Given the description of an element on the screen output the (x, y) to click on. 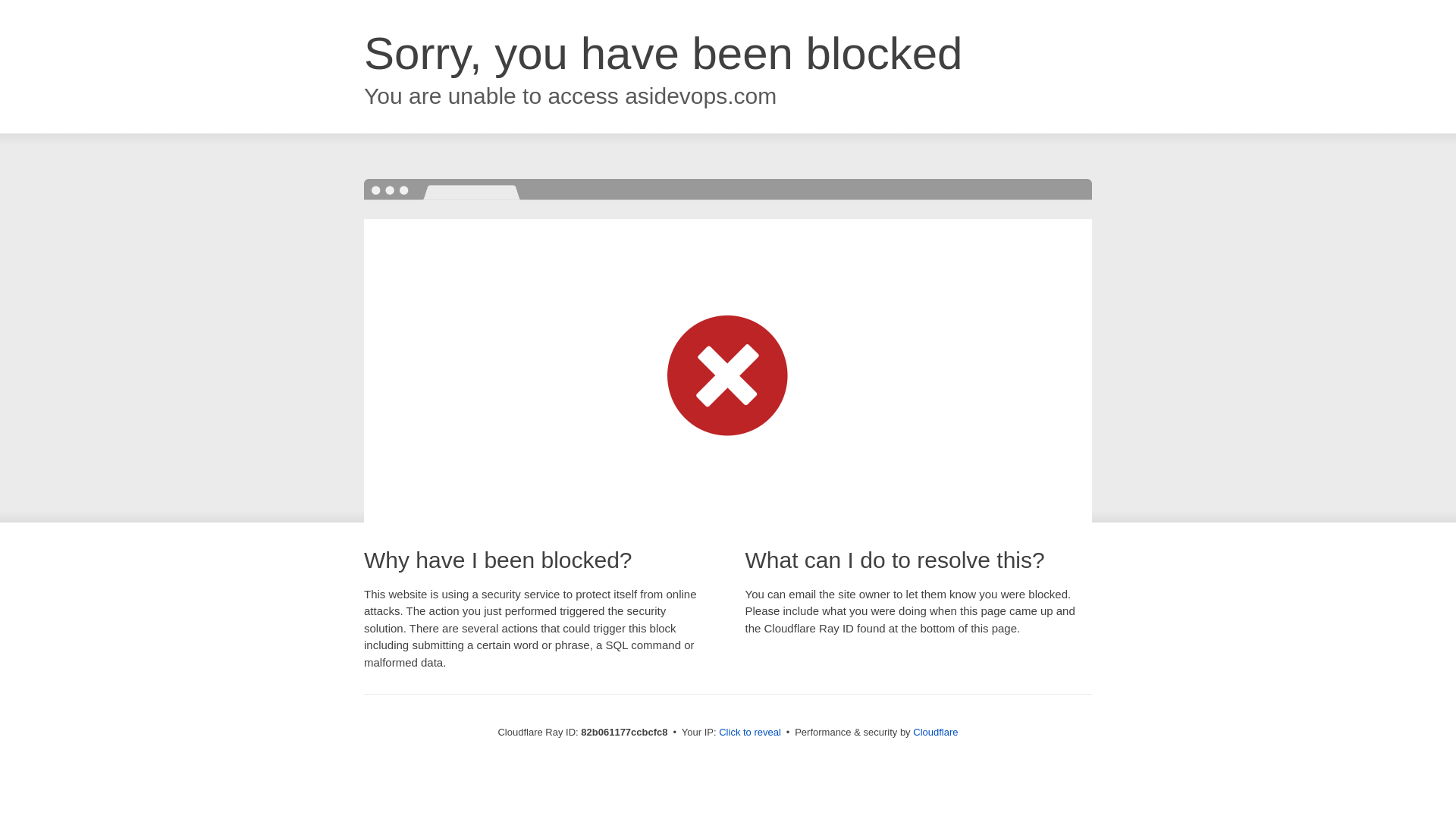
Cloudflare Element type: text (935, 731)
Click to reveal Element type: text (749, 732)
